Given the description of an element on the screen output the (x, y) to click on. 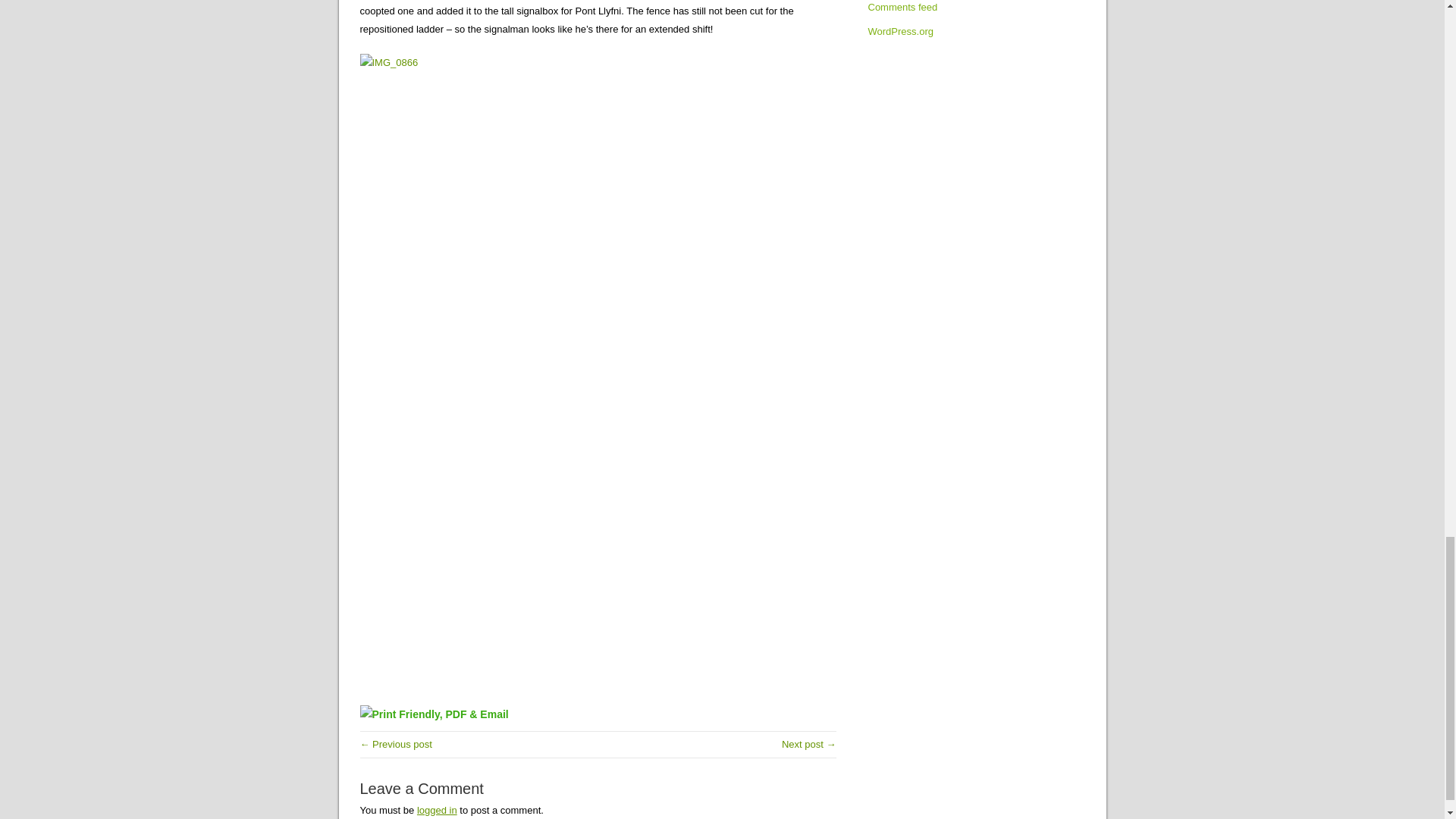
Switching on the swinger (808, 744)
Bridge over the River Lyfni (394, 744)
logged in (436, 809)
